Given the description of an element on the screen output the (x, y) to click on. 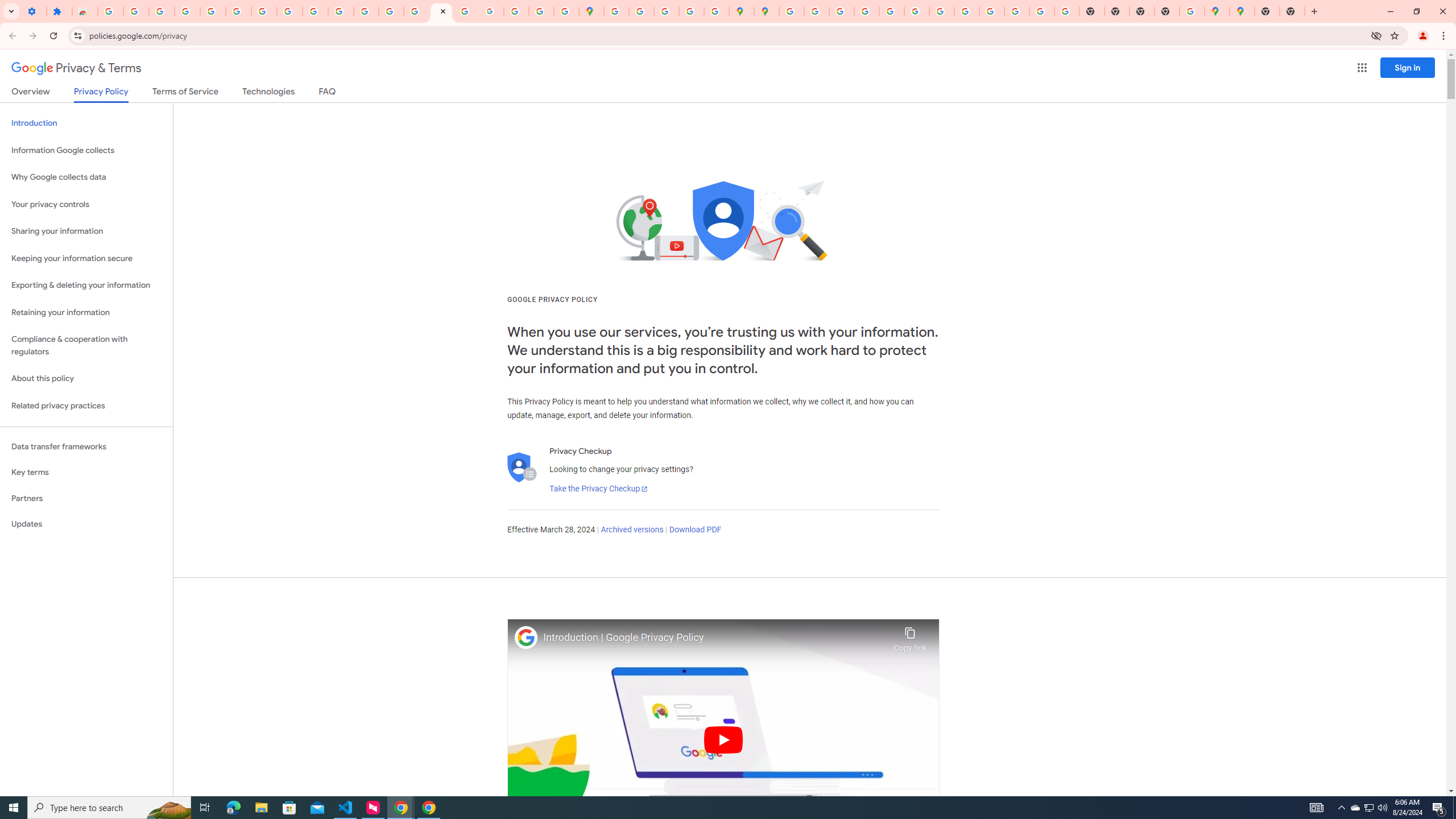
Download PDF (695, 529)
Privacy Help Center - Policies Help (841, 11)
Privacy & Terms (76, 68)
